Given the description of an element on the screen output the (x, y) to click on. 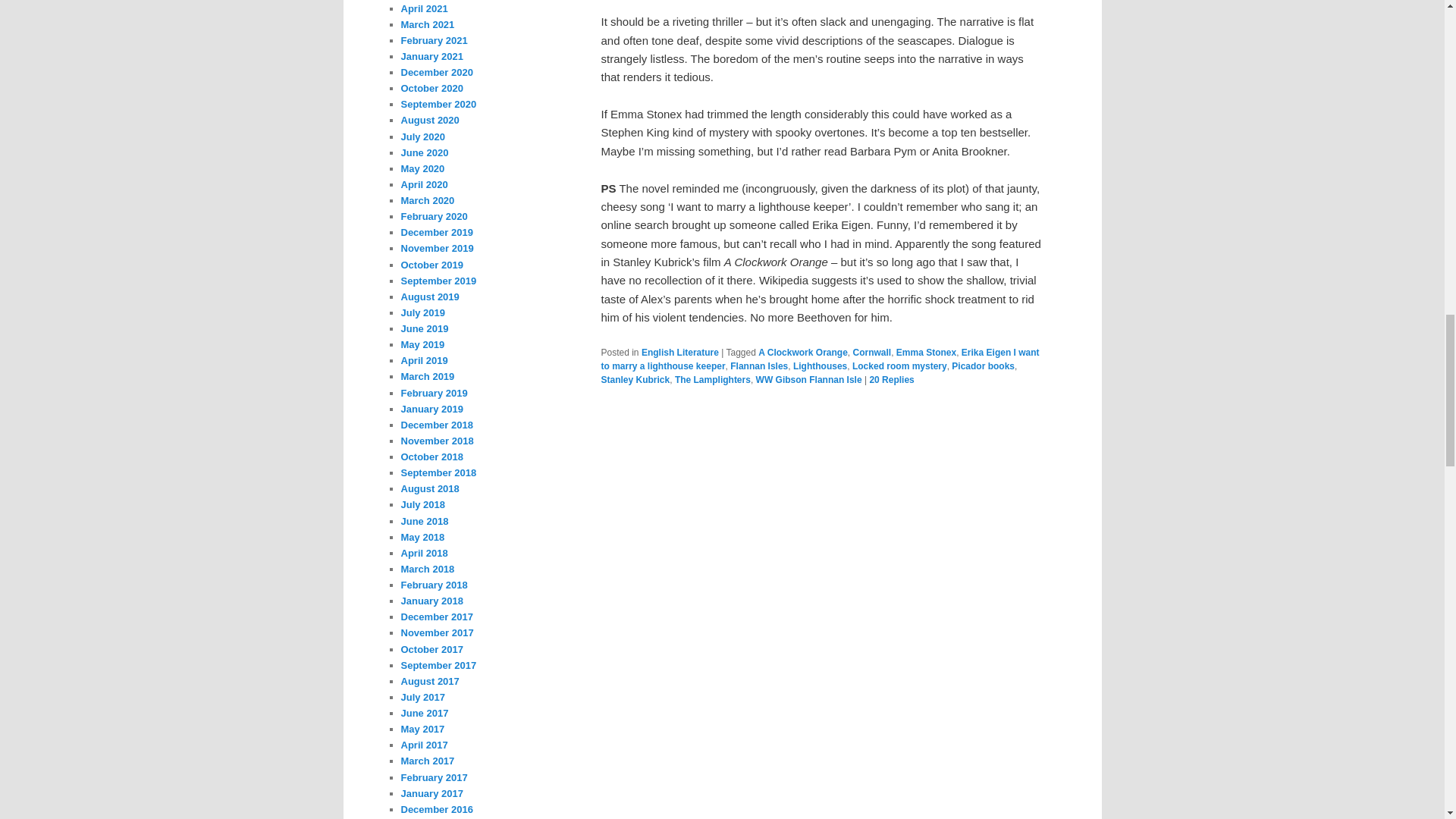
The Lamplighters (713, 379)
Stanley Kubrick (634, 379)
20 Replies (891, 379)
Locked room mystery (899, 366)
Flannan Isles (758, 366)
Lighthouses (820, 366)
A Clockwork Orange (802, 352)
WW Gibson Flannan Isle (808, 379)
Emma Stonex (926, 352)
English Literature (680, 352)
Picador books (983, 366)
Erika Eigen I want to marry a lighthouse keeper (819, 359)
Cornwall (871, 352)
